Given the description of an element on the screen output the (x, y) to click on. 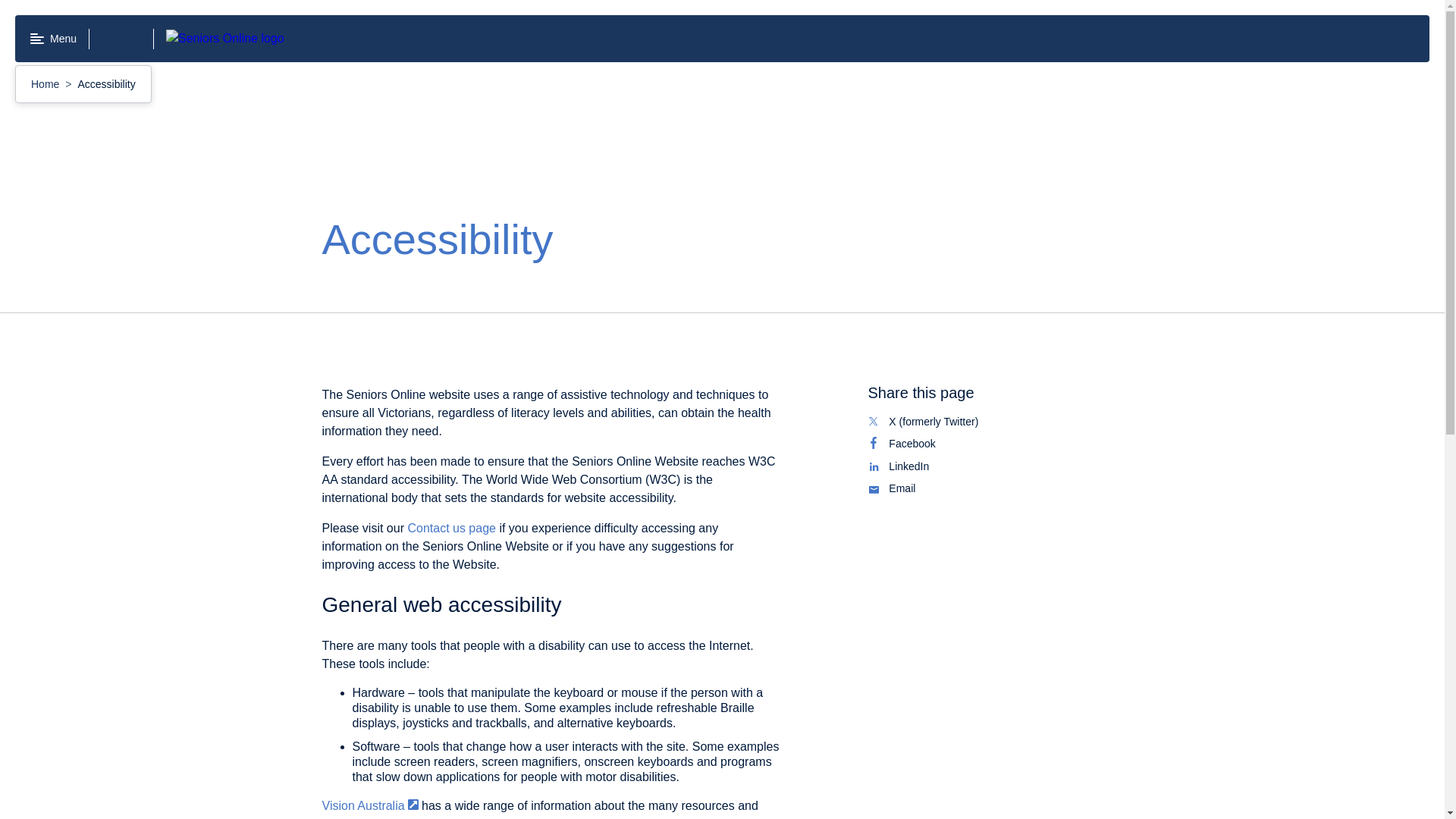
Vision AustraliaExternal Link (369, 805)
Home (46, 83)
External Link (413, 804)
Contact us page (994, 443)
Menu (994, 488)
